Given the description of an element on the screen output the (x, y) to click on. 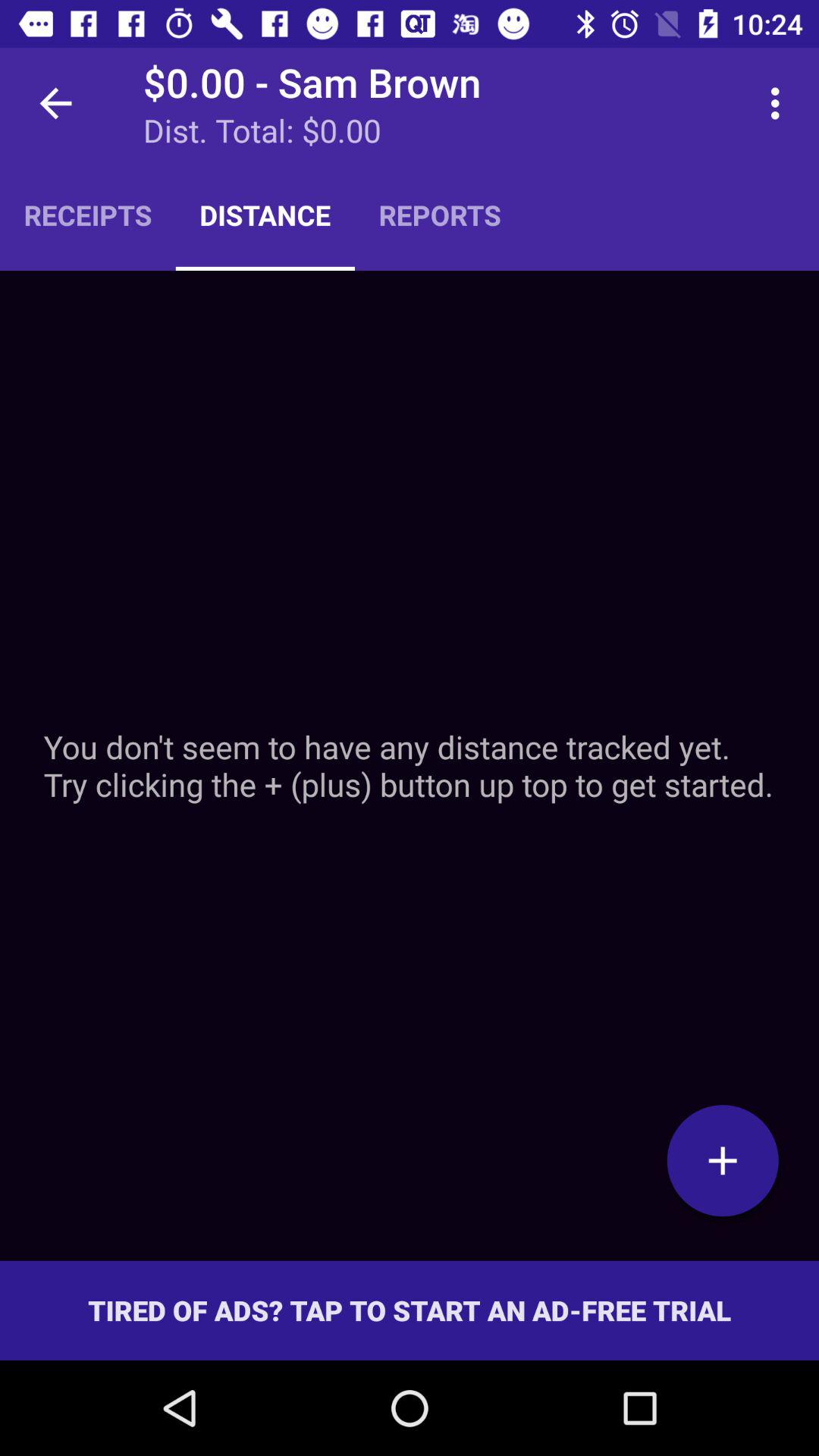
turn off the item at the top right corner (779, 103)
